Given the description of an element on the screen output the (x, y) to click on. 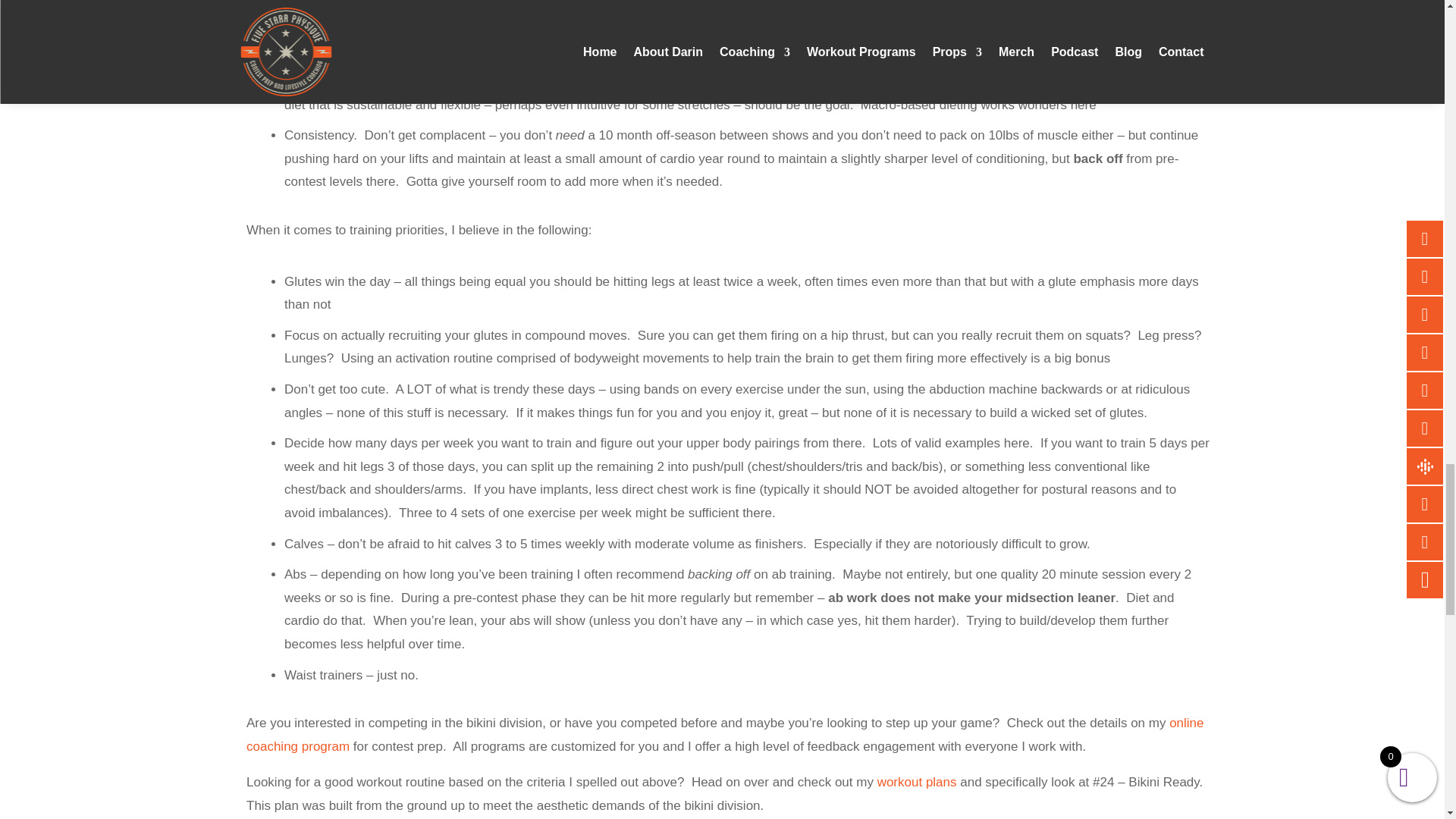
online coaching program (725, 734)
